Given the description of an element on the screen output the (x, y) to click on. 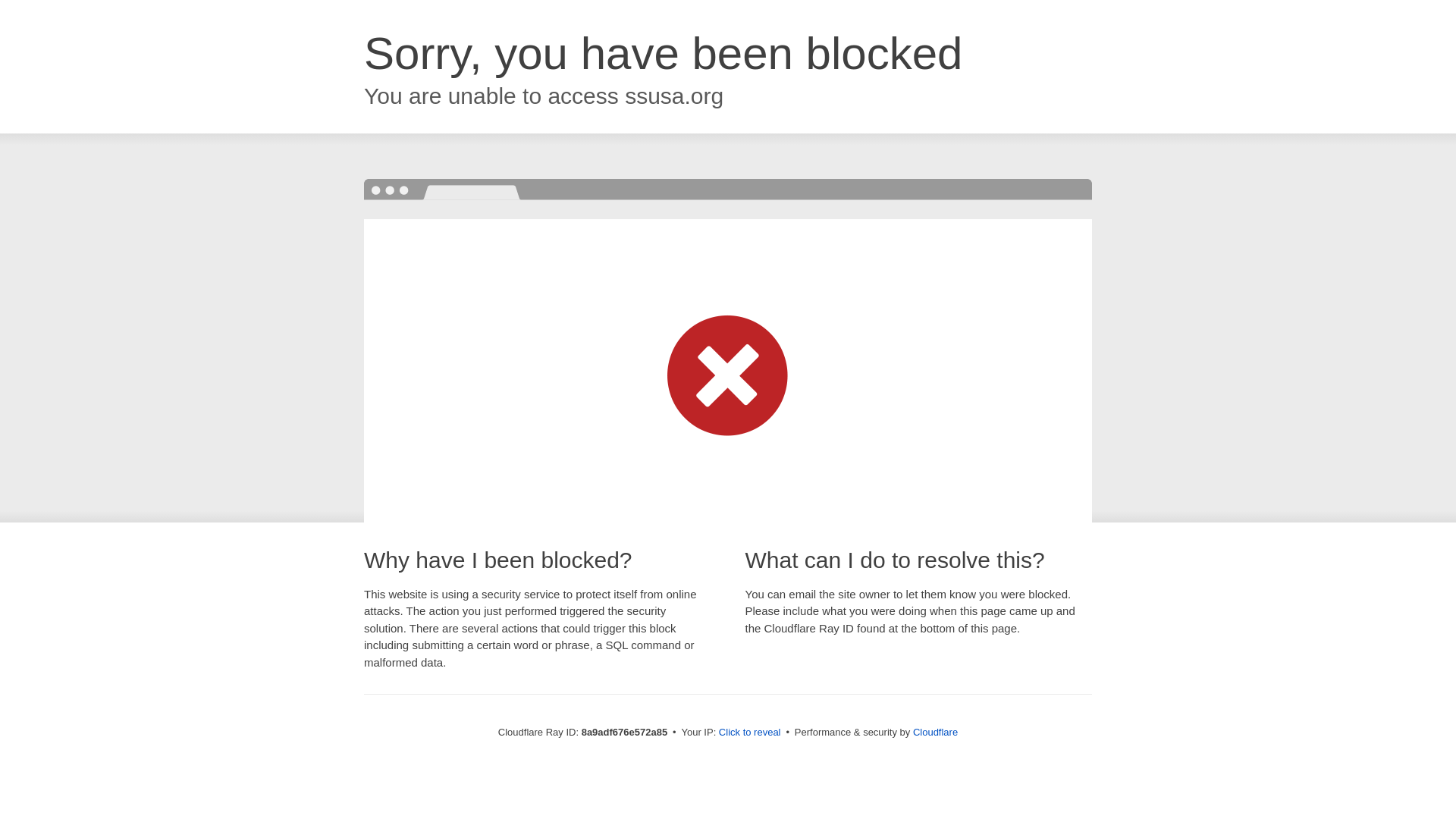
Click to reveal (749, 732)
Cloudflare (935, 731)
